Given the description of an element on the screen output the (x, y) to click on. 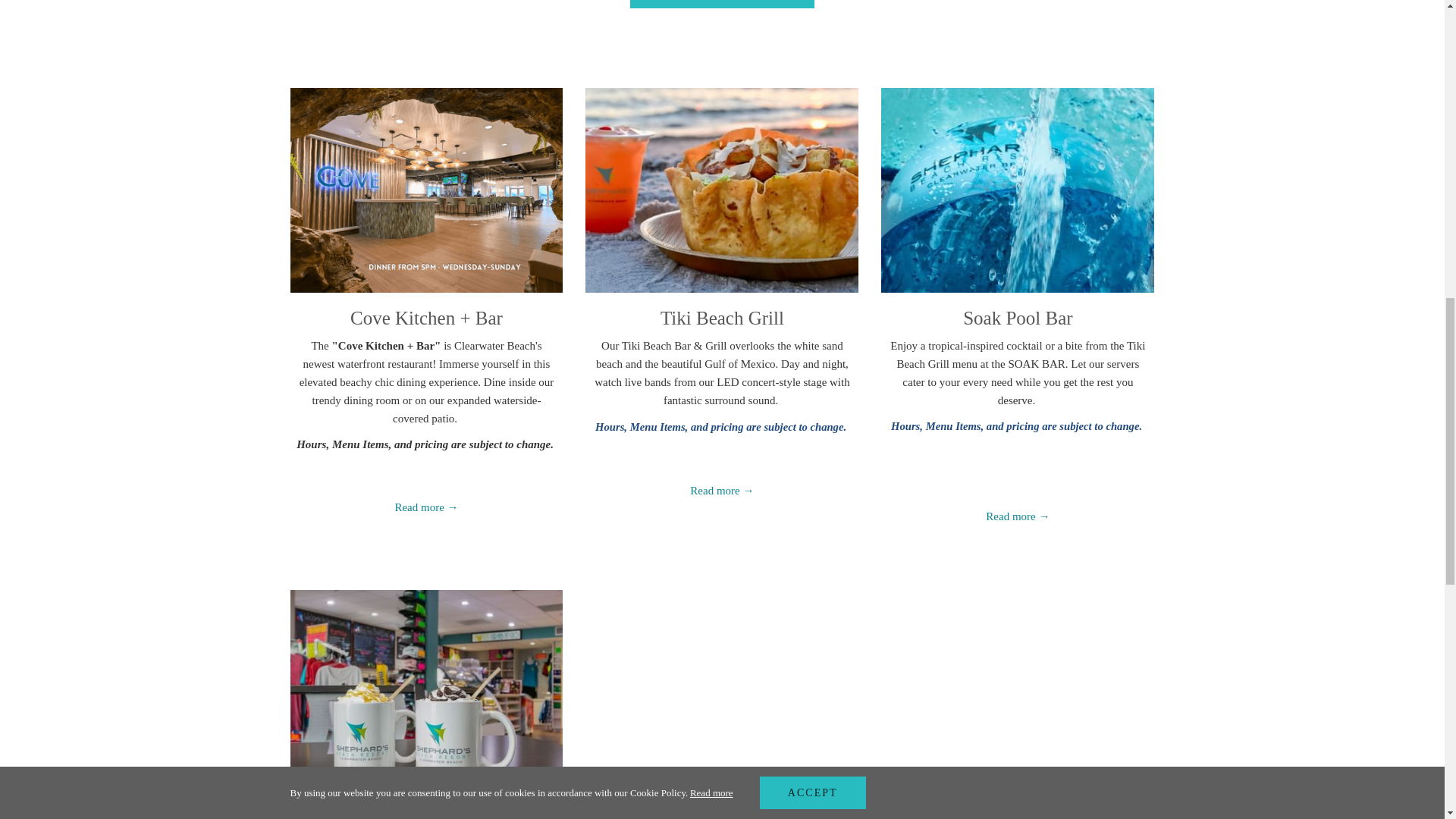
Read more (1017, 515)
Tiki Beach Grill (722, 317)
Oasis Grab n Go (425, 814)
Soak Pool Bar (1016, 317)
Read more (722, 490)
Read more (721, 4)
